Given the description of an element on the screen output the (x, y) to click on. 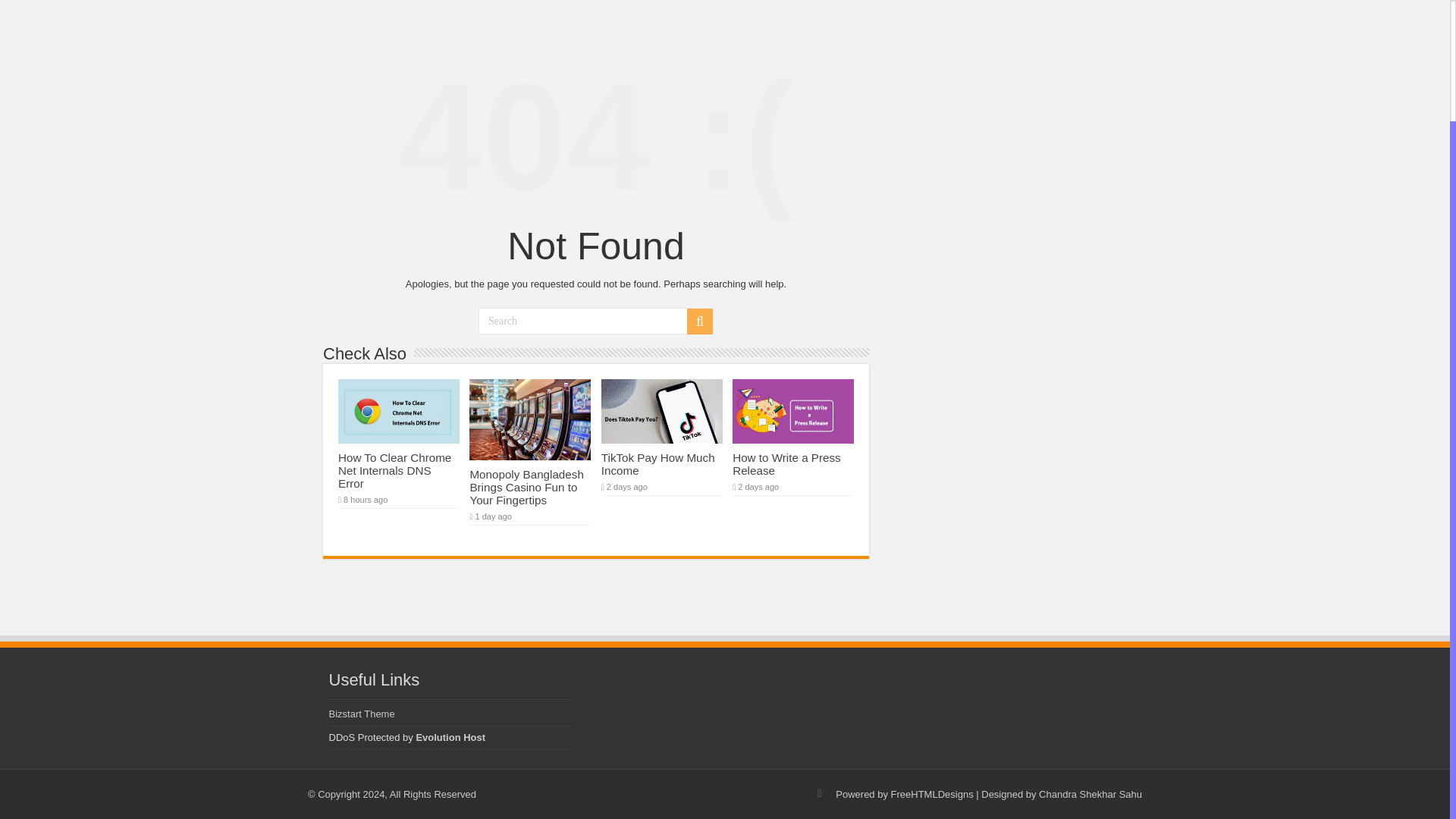
TikTok Pay How Much Income (657, 463)
Monopoly Bangladesh Brings Casino Fun to Your Fingertips (525, 486)
Search (596, 320)
Search (700, 321)
Evolution Host (449, 737)
FreeHTMLDesigns (932, 794)
How to Write a Press Release (786, 463)
Bizstart Theme (361, 713)
How To Clear Chrome Net Internals DNS Error (394, 470)
